Given the description of an element on the screen output the (x, y) to click on. 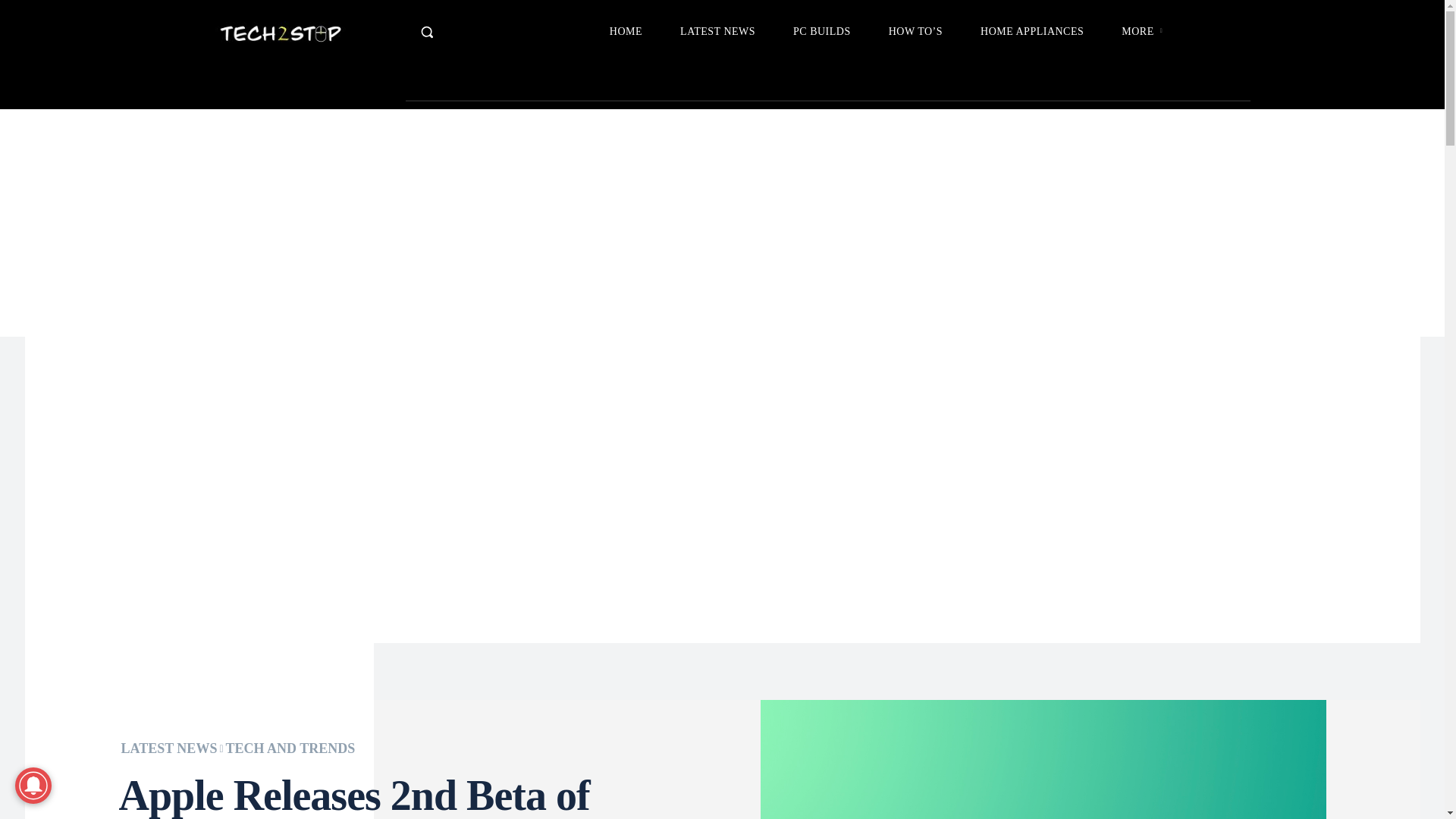
LATEST NEWS (717, 31)
PC BUILDS (821, 31)
